Given the description of an element on the screen output the (x, y) to click on. 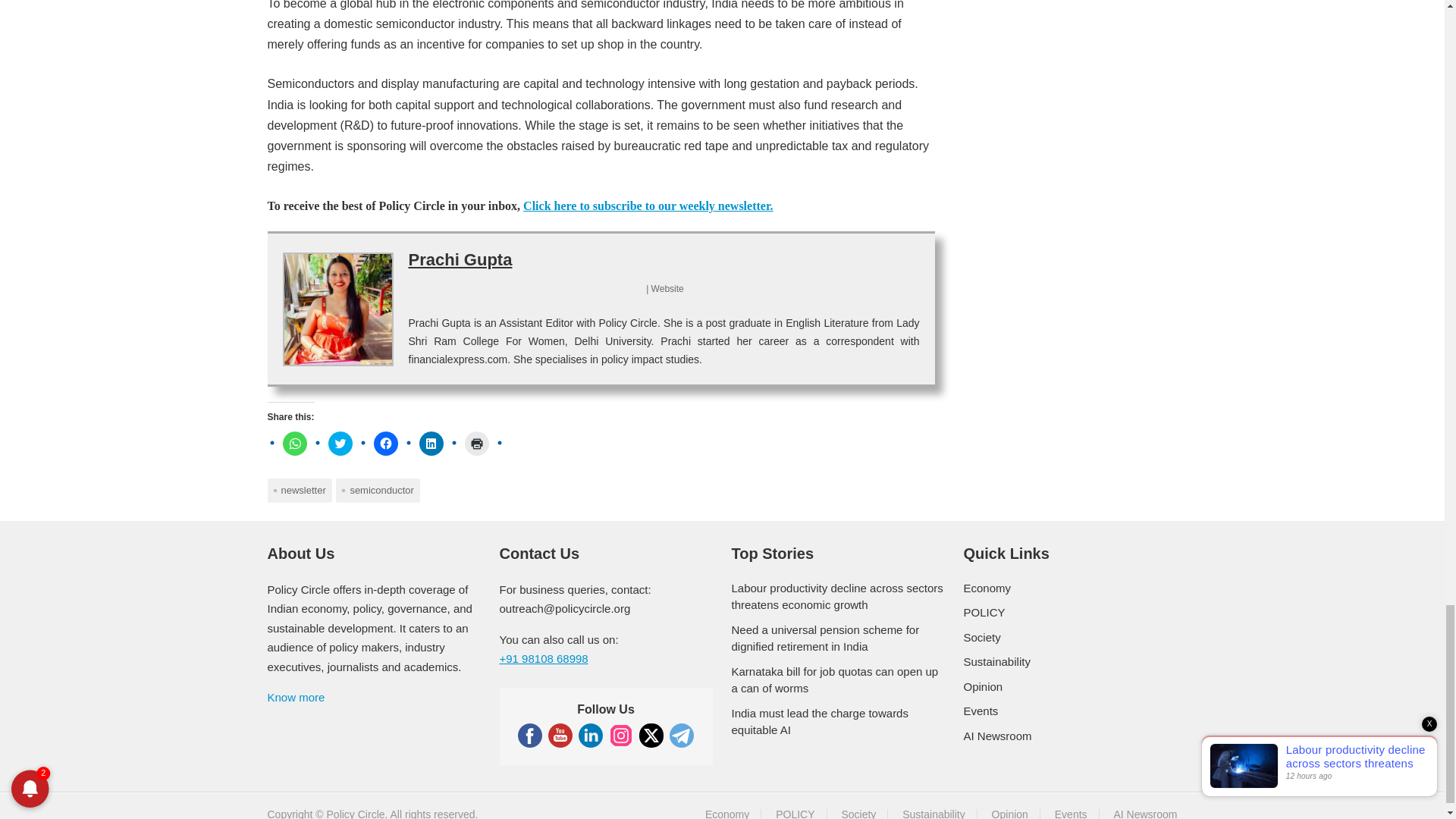
Click to share on Twitter (339, 443)
Click to print (475, 443)
Click to share on LinkedIn (430, 443)
Click to share on WhatsApp (293, 443)
Click to share on Facebook (384, 443)
